Given the description of an element on the screen output the (x, y) to click on. 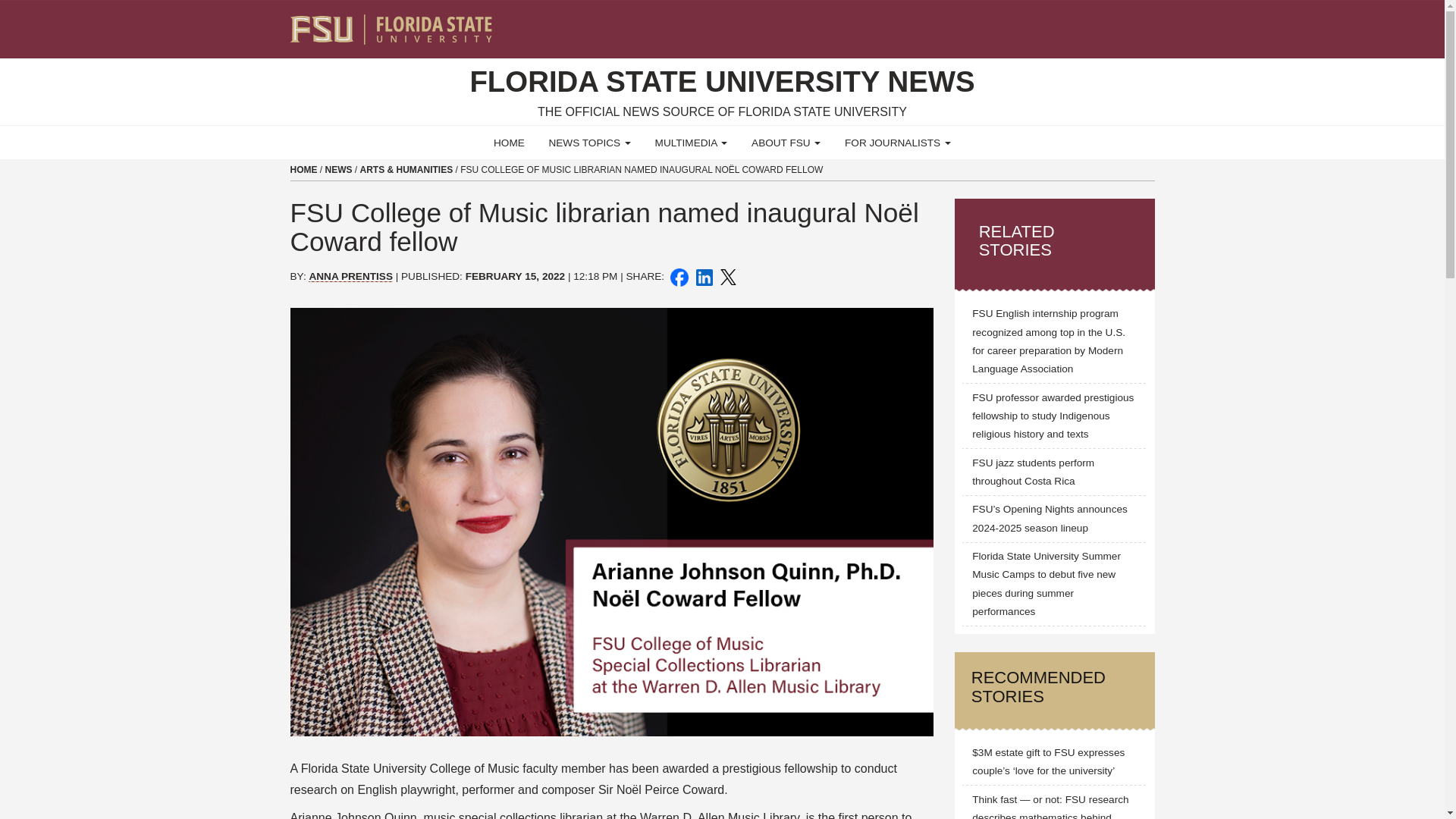
FSU Webmail (1112, 23)
Skip to content (5, 5)
Navigation (1152, 23)
